Given the description of an element on the screen output the (x, y) to click on. 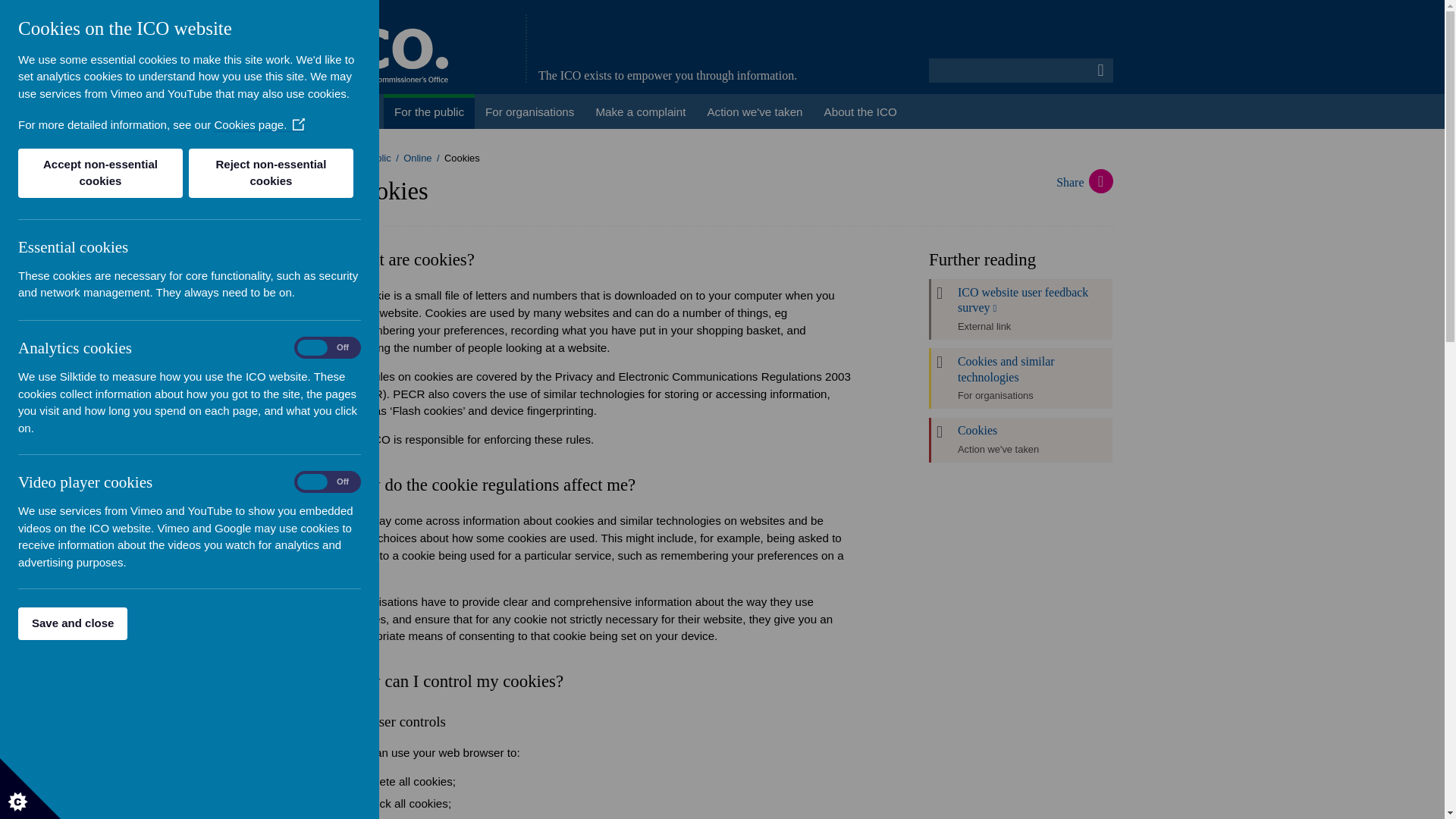
Make a complaint (640, 110)
Search (1101, 70)
Cookie Control Icon (30, 788)
Search (1101, 70)
on (327, 481)
Action we've taken (753, 110)
Home (357, 110)
For the public (361, 158)
Cookies page.Cookie Control Link Icon (259, 124)
Accept non-essential cookies (100, 173)
For organisations (529, 110)
Cookie Control Icon (30, 788)
About the ICO (860, 110)
Online (416, 158)
Save and close (72, 623)
